Given the description of an element on the screen output the (x, y) to click on. 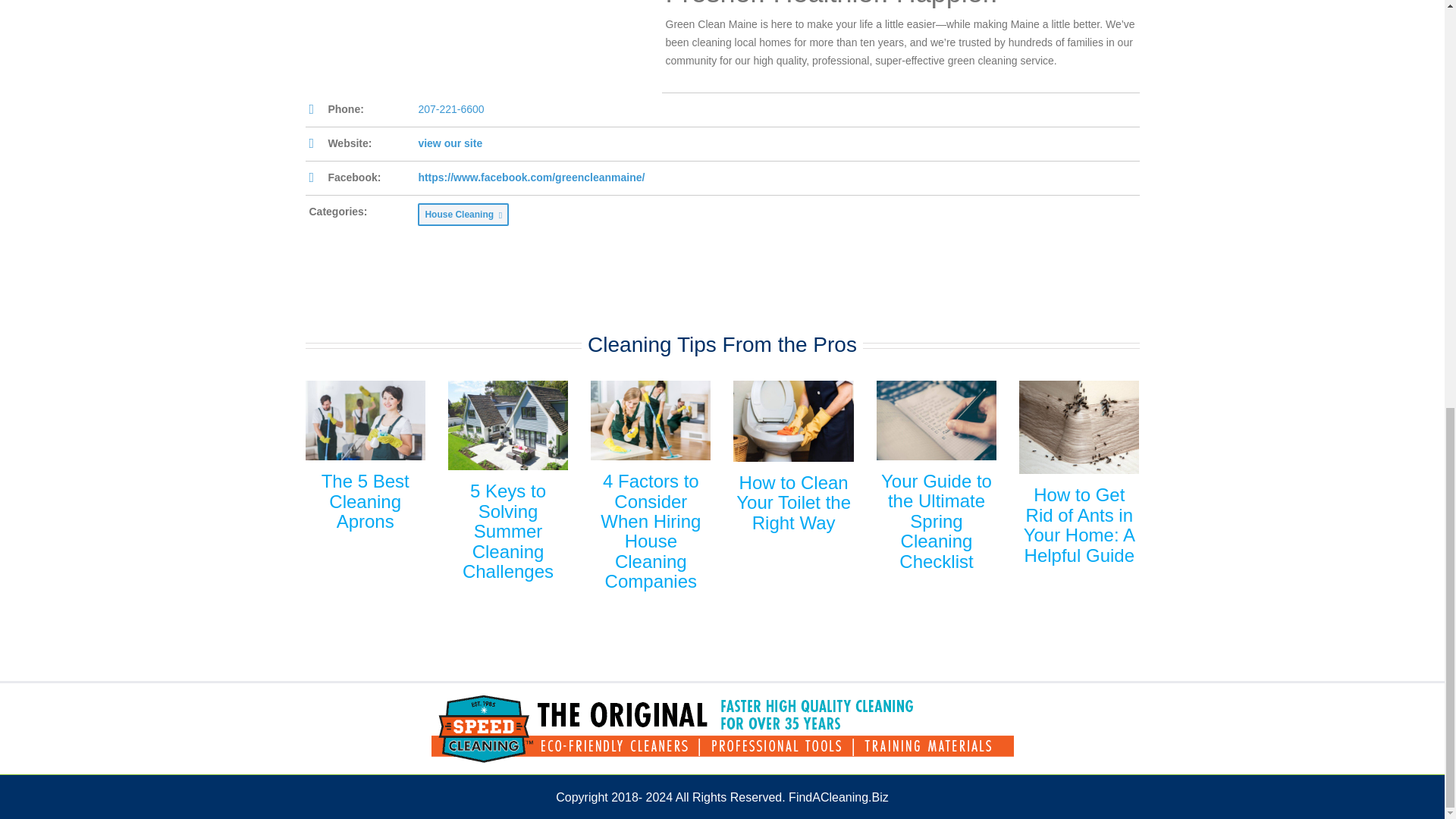
The 5 Best Cleaning Aprons (365, 500)
House Cleaning   (462, 214)
5 Keys to Solving Summer Cleaning Challenges (508, 530)
view our site (449, 143)
207-221-6600 (450, 109)
